Given the description of an element on the screen output the (x, y) to click on. 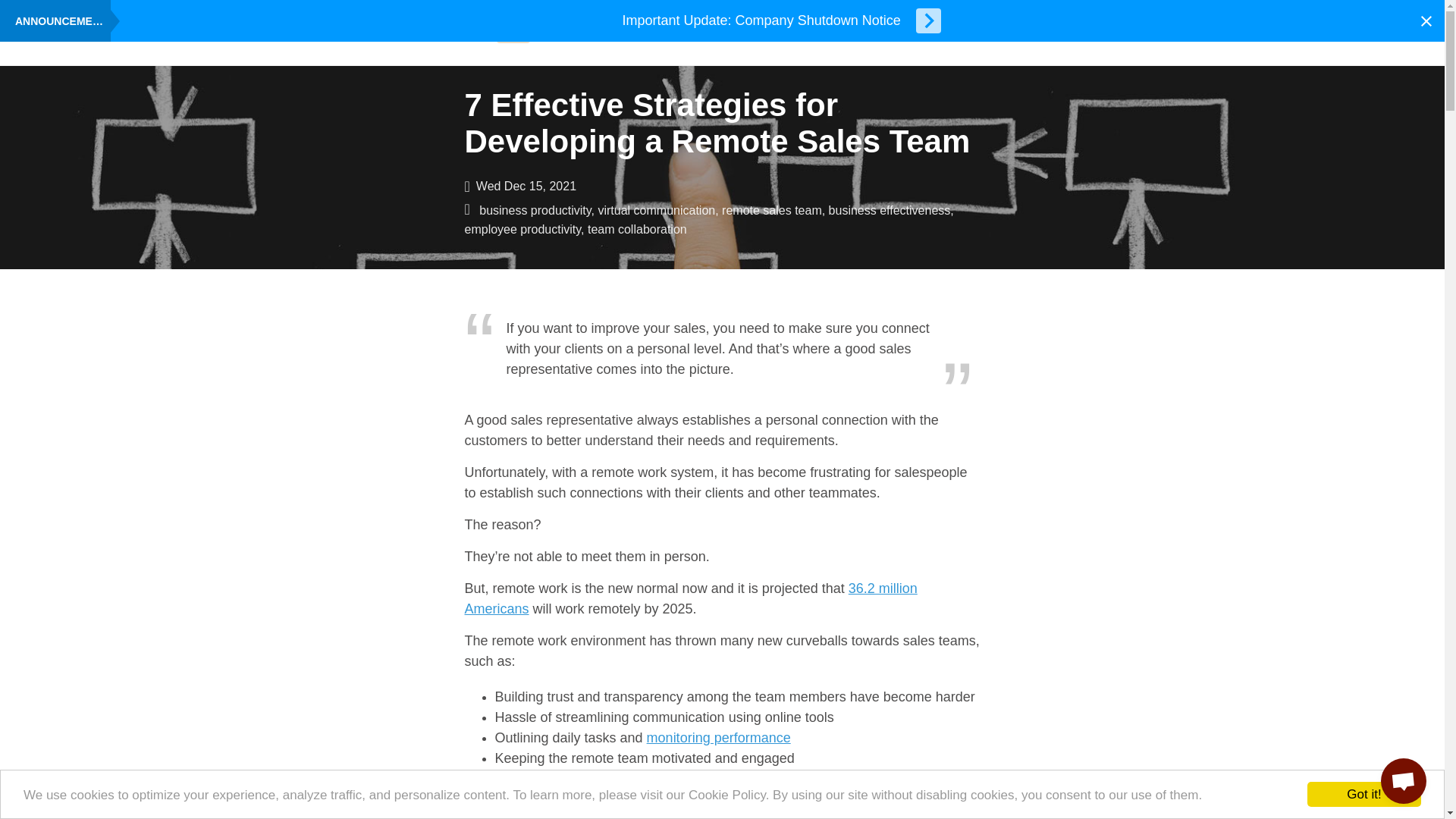
Press (582, 34)
business effectiveness (889, 210)
virtual communication (655, 210)
Download RoundPie for free! (467, 34)
business productivity (535, 210)
My Account (1142, 34)
About (417, 34)
Best Timer for Tomato Technique: Media about RoundPie App (582, 34)
36.2 million Americans (690, 598)
connected with the customers (634, 778)
Blog (512, 34)
Blog. Track time and hack productivity with Tomato Technique (512, 34)
monitoring performance (718, 737)
FAQ (546, 34)
team collaboration (637, 228)
